Given the description of an element on the screen output the (x, y) to click on. 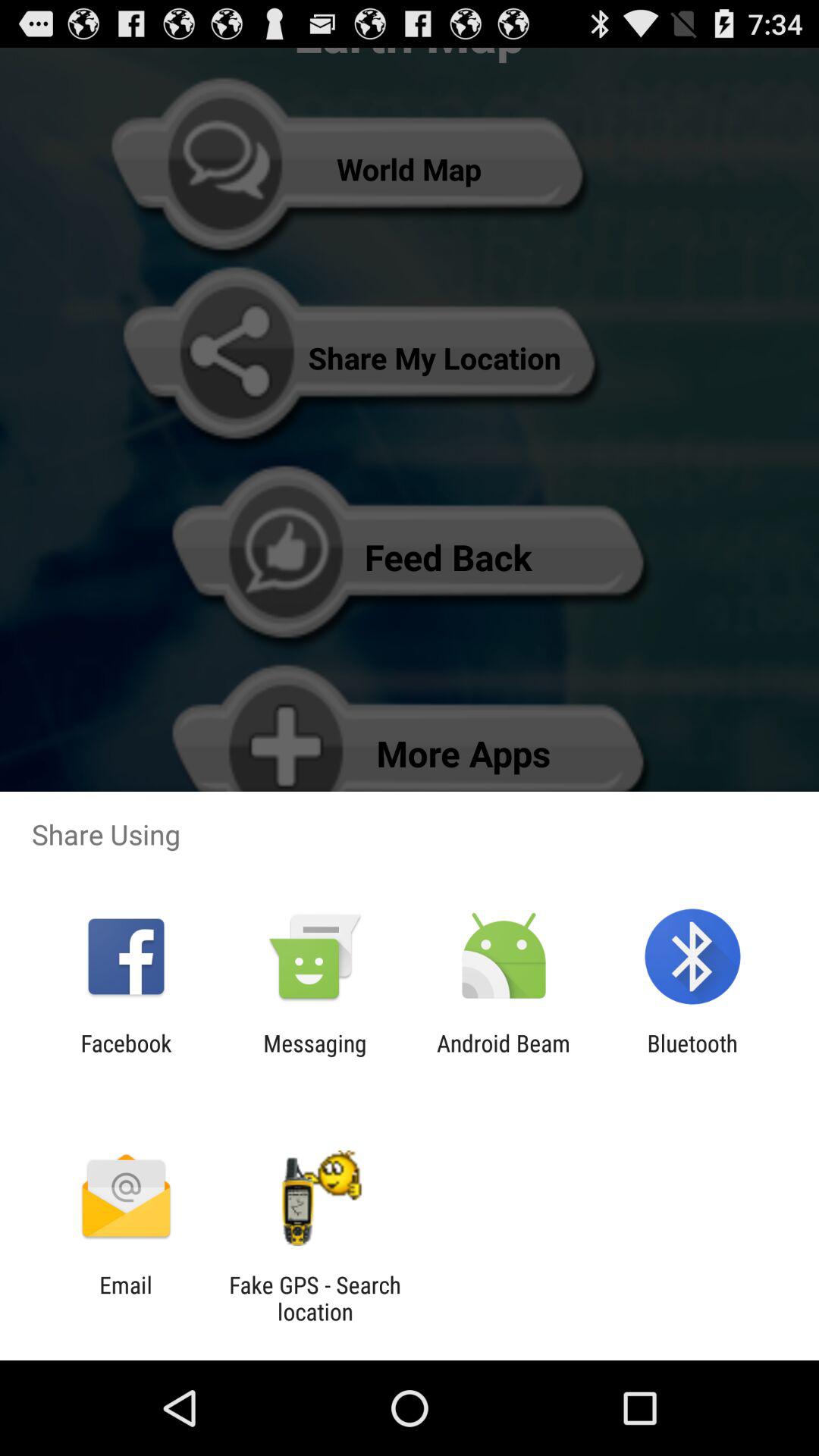
click icon next to the android beam app (314, 1056)
